Given the description of an element on the screen output the (x, y) to click on. 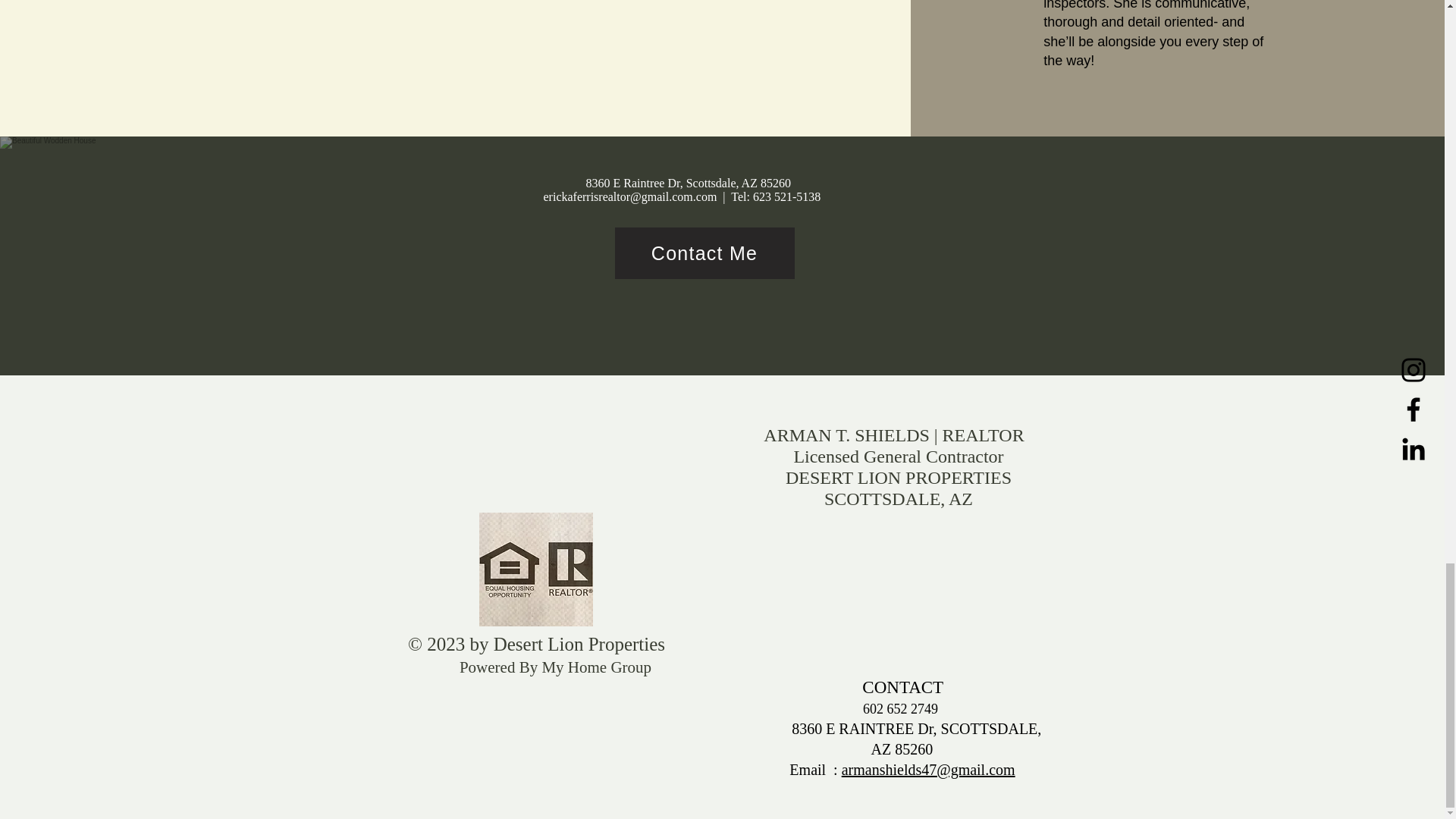
Contact Me (703, 253)
